Given the description of an element on the screen output the (x, y) to click on. 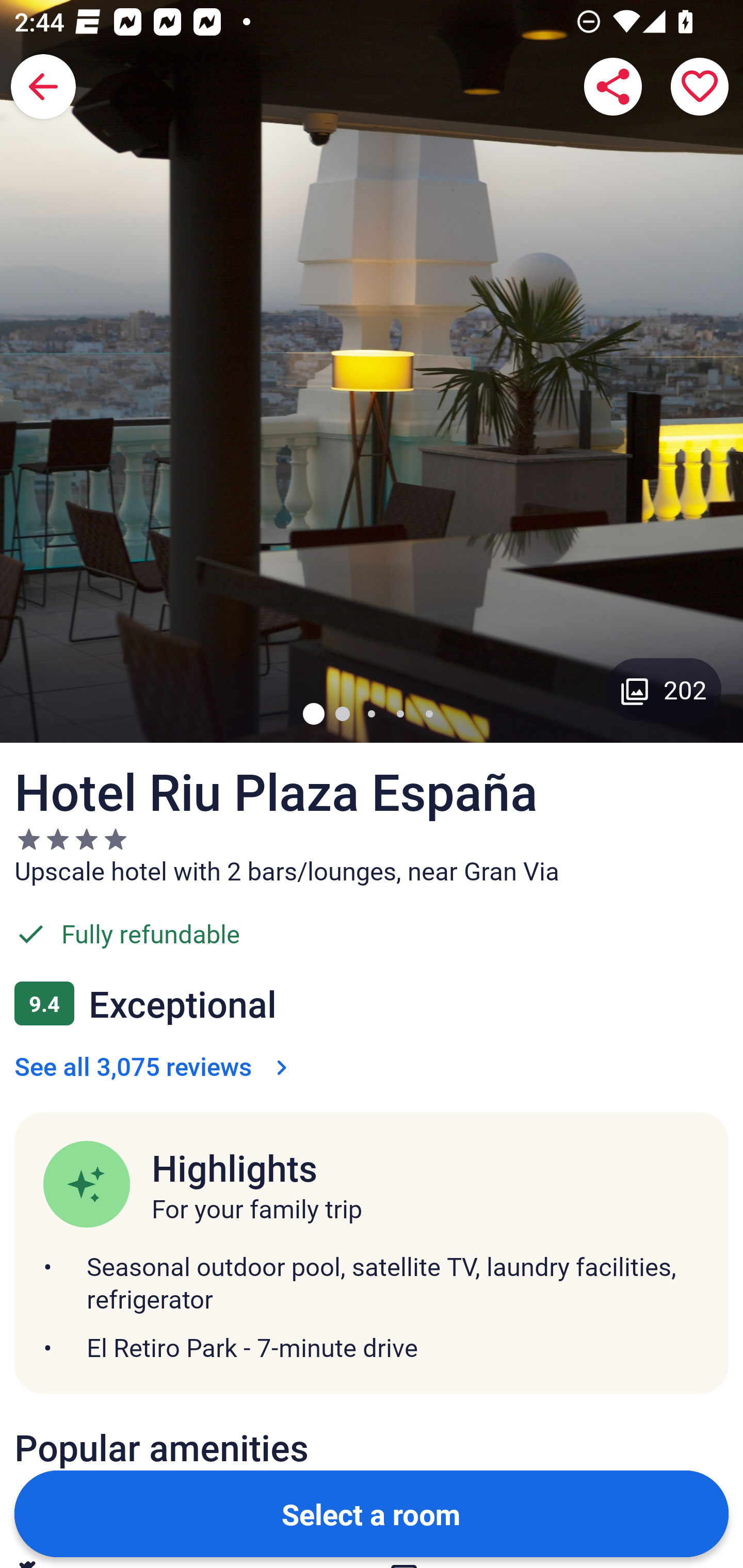
Back (43, 86)
Save property to a trip (699, 86)
Share Hotel Riu Plaza España (612, 87)
Gallery button with 202 images (663, 689)
See all 3,075 reviews See all 3,075 reviews Link (154, 1066)
Select a room Button Select a room (371, 1513)
